Given the description of an element on the screen output the (x, y) to click on. 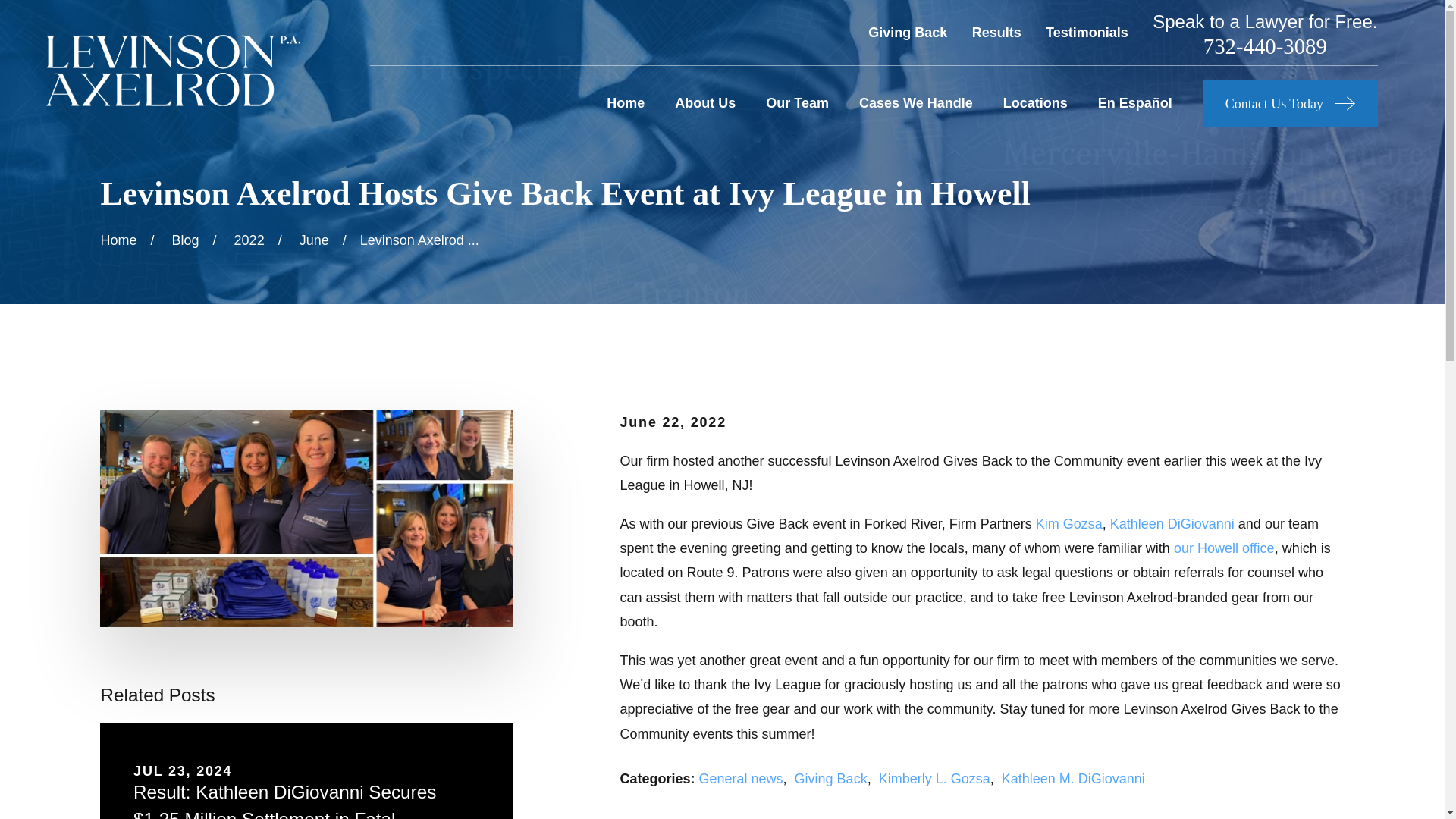
Results (997, 32)
Home (172, 70)
Go Home (118, 240)
Our Team (796, 103)
Giving Back (907, 32)
Testimonials (1086, 32)
About Us (705, 103)
732-440-3089 (1265, 46)
